Given the description of an element on the screen output the (x, y) to click on. 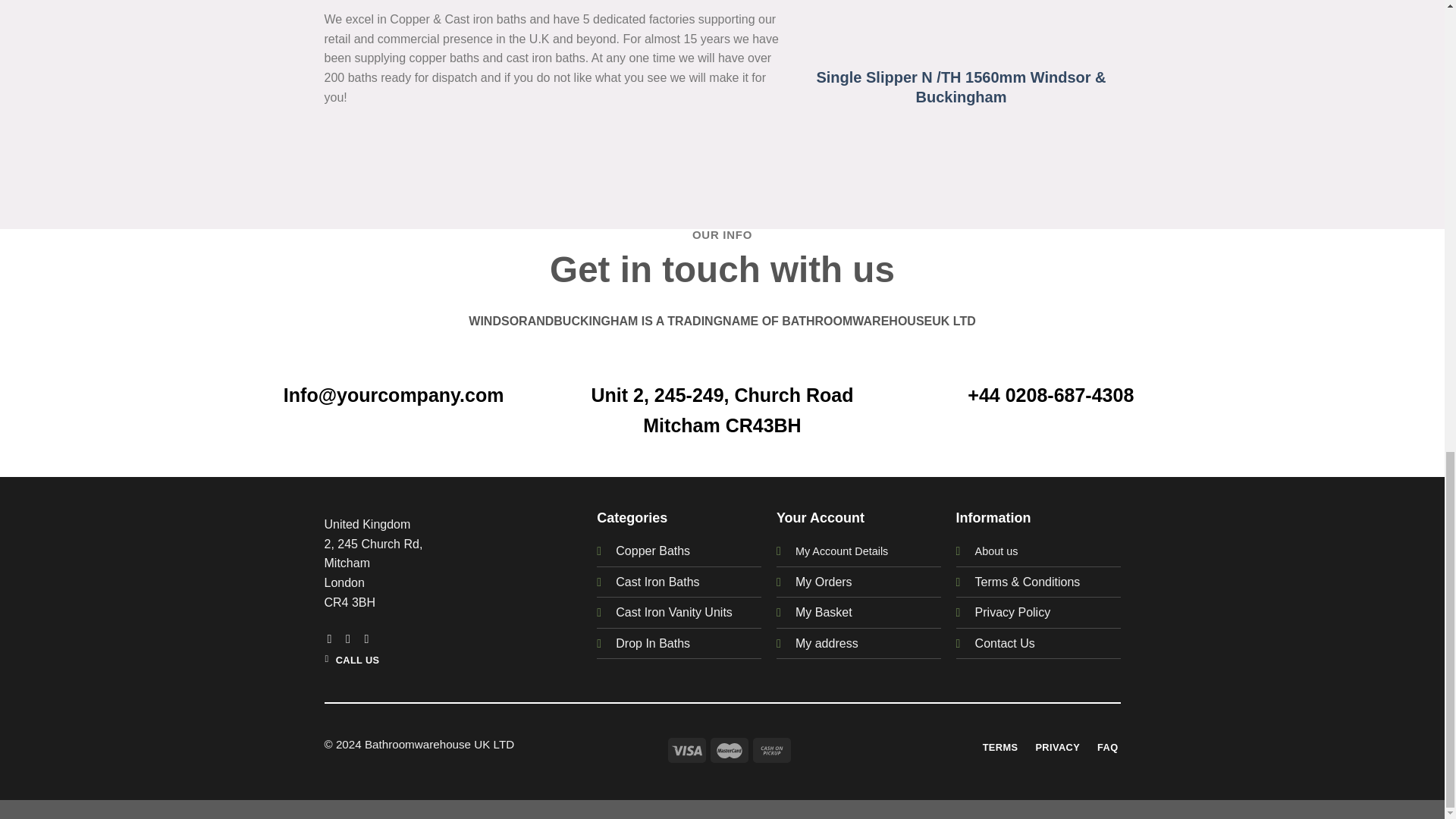
Drop In Baths (652, 643)
Cast Iron Vanity Units (673, 612)
My Basket (822, 612)
Copper Baths (652, 550)
Cast Iron Baths (656, 581)
CALL US (352, 660)
Follow on Facebook (333, 638)
My Orders (822, 581)
About us (996, 550)
My address (826, 643)
